Given the description of an element on the screen output the (x, y) to click on. 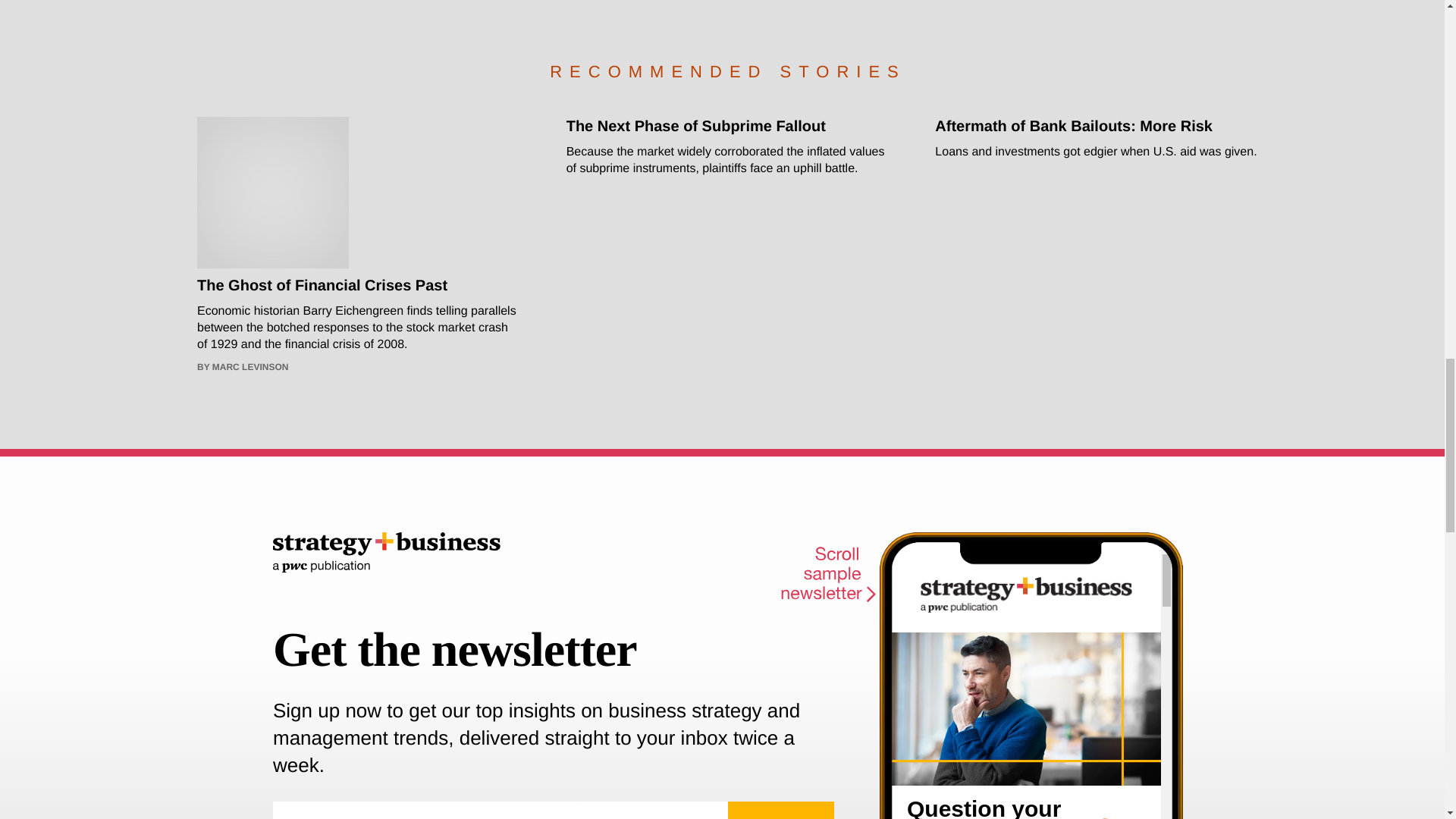
Newsletters (1031, 680)
Sign up (781, 810)
